Given the description of an element on the screen output the (x, y) to click on. 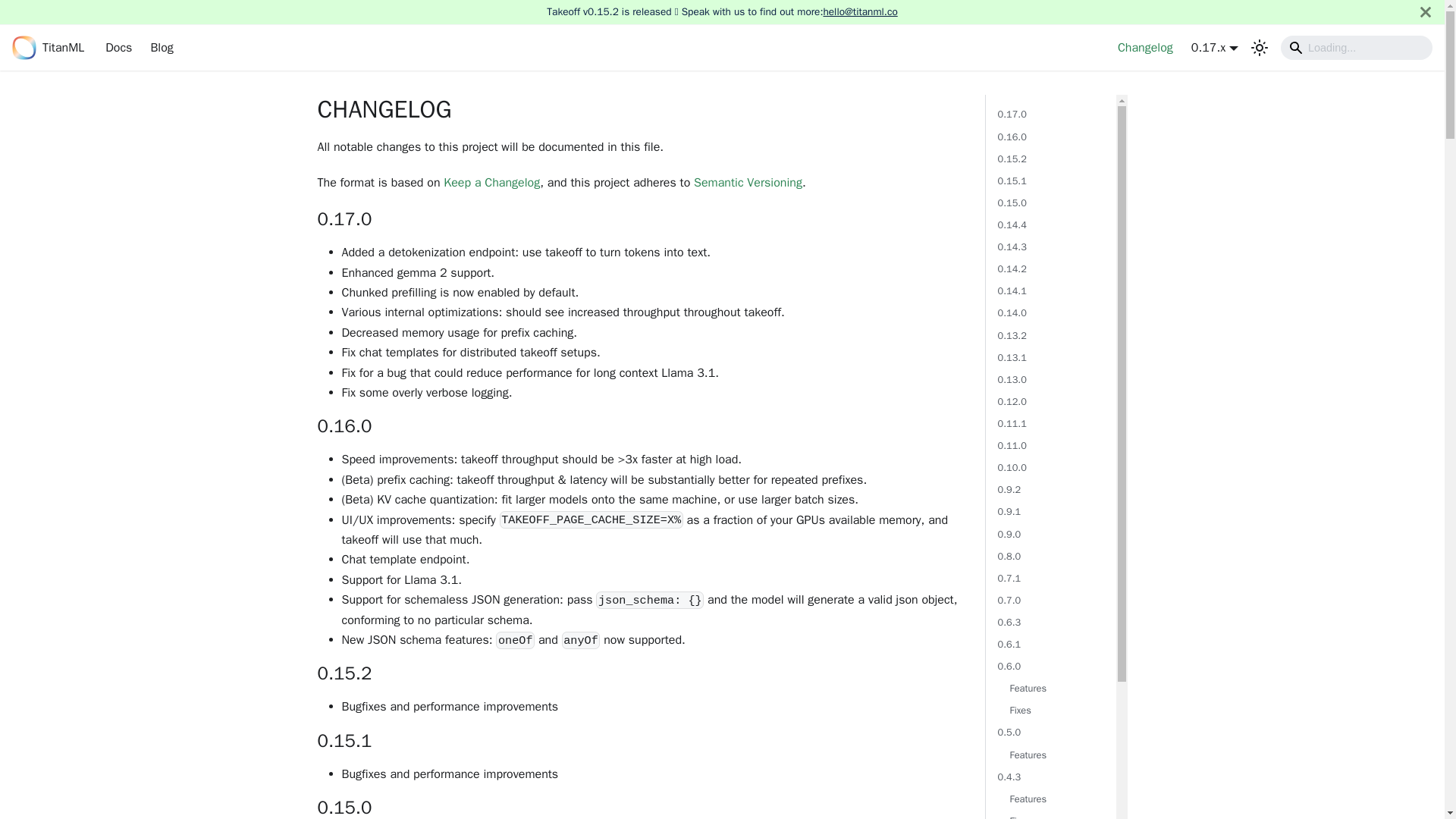
Changelog (1145, 47)
Semantic Versioning (748, 182)
Keep a Changelog (492, 182)
TitanML (47, 47)
Blog (161, 47)
Docs (118, 47)
0.17.x (1215, 47)
